Given the description of an element on the screen output the (x, y) to click on. 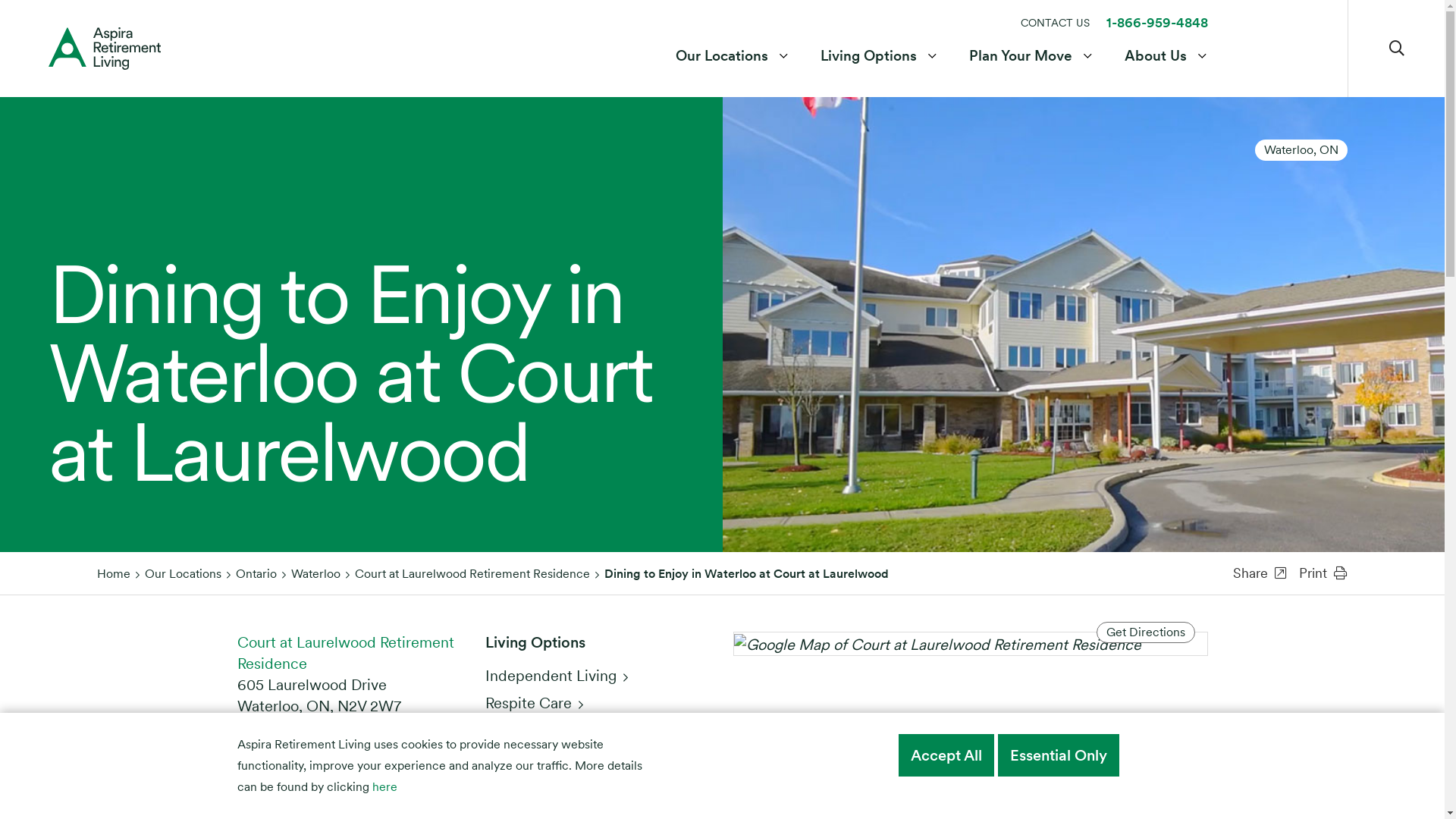
Court at Laurelwood Retirement Residence Element type: text (344, 652)
Respite Care Element type: text (534, 702)
Accept All Element type: text (945, 755)
Essential Only Element type: text (1058, 755)
here Element type: text (383, 786)
Plan Your Move Element type: text (1022, 48)
About Us submenu Element type: text (1202, 48)
Waterloo Element type: text (315, 573)
Our Locations Element type: text (722, 48)
Ontario Element type: text (255, 573)
About Us Element type: text (1156, 48)
CONTACT US Element type: text (1054, 22)
519-725-2442 Element type: text (302, 739)
Plan Your Move submenu Element type: text (1087, 48)
Independent Living Element type: text (556, 675)
Our Locations Element type: text (182, 573)
Court at Laurelwood Retirement Residence Element type: text (471, 573)
1-866-959-4848 Element type: text (1156, 22)
Living Options submenu Element type: text (932, 48)
Our Locations submenu Element type: text (783, 48)
Living Options Element type: text (870, 48)
Print Element type: text (1323, 572)
Share Element type: text (1259, 572)
Home Element type: text (113, 573)
